Given the description of an element on the screen output the (x, y) to click on. 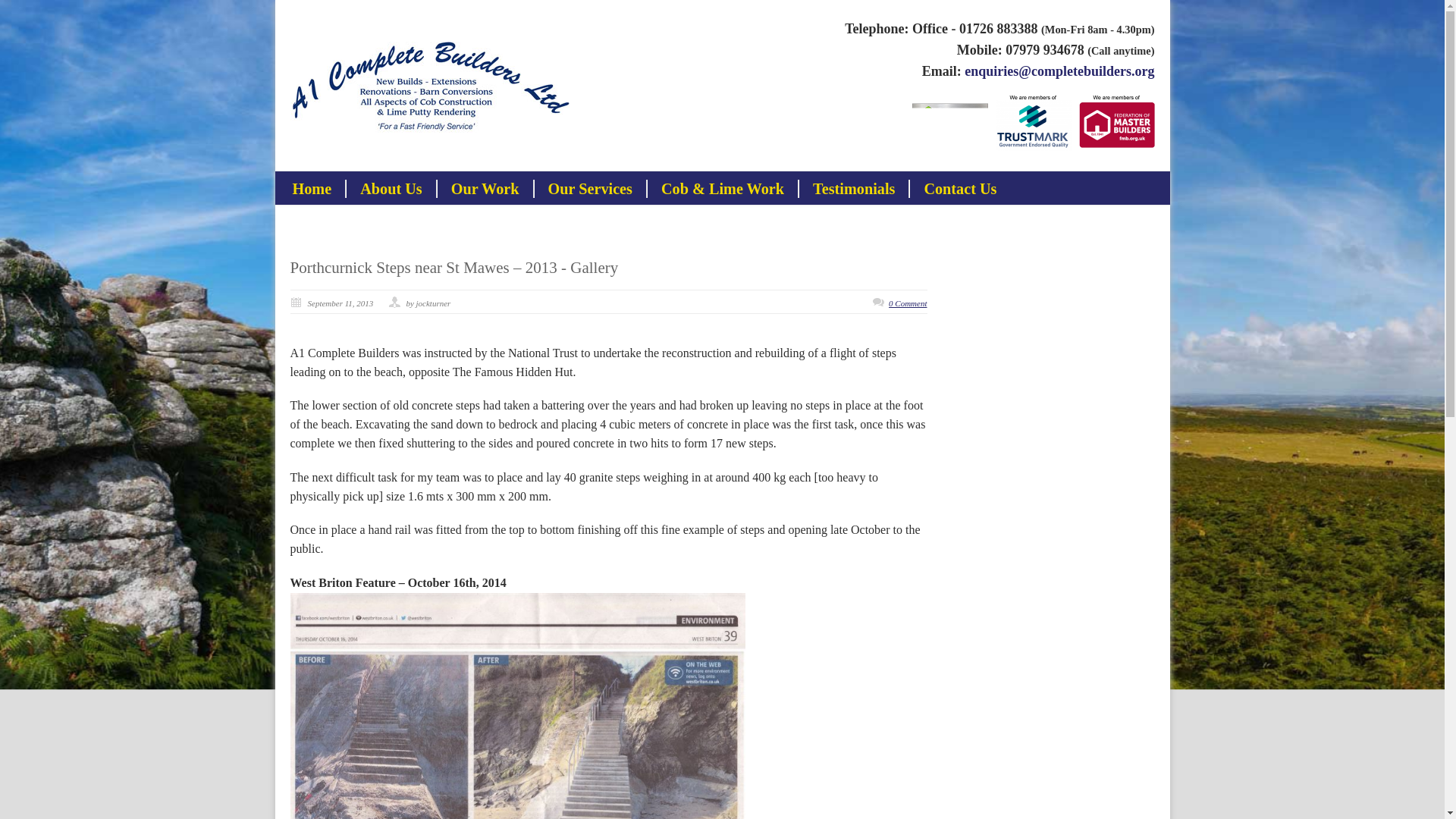
About Us (391, 188)
Home (312, 188)
0 Comment (907, 302)
Our Services (590, 188)
cobandlimecornwall.co.uk (721, 188)
Contact Us (959, 188)
Our Work (485, 188)
Testimonials (852, 188)
